Given the description of an element on the screen output the (x, y) to click on. 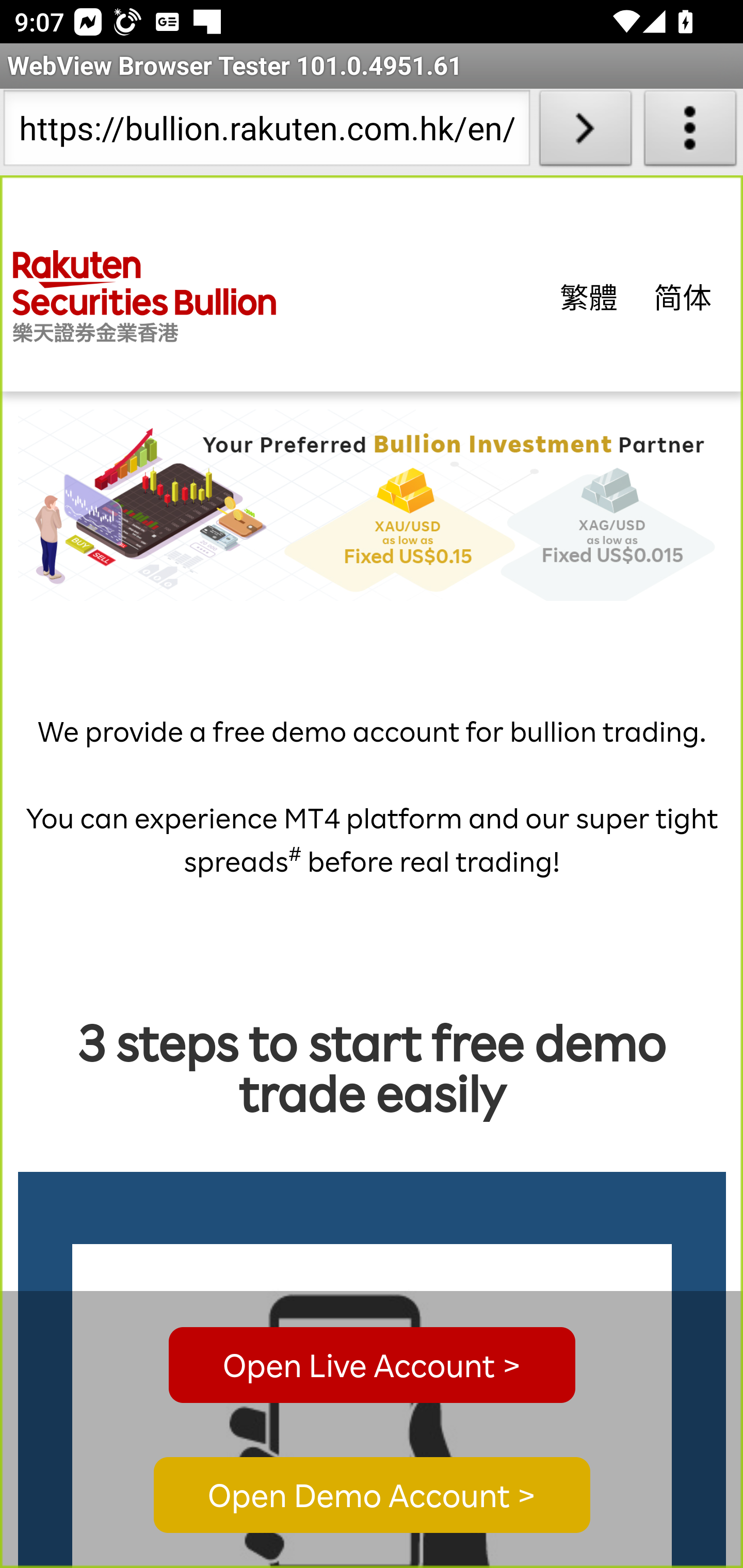
Load URL (585, 132)
About WebView (690, 132)
繁體 (589, 296)
简体 (683, 296)
1. Register (372, 1405)
Open Live Account > (371, 1364)
Open Demo Account > (371, 1495)
